Given the description of an element on the screen output the (x, y) to click on. 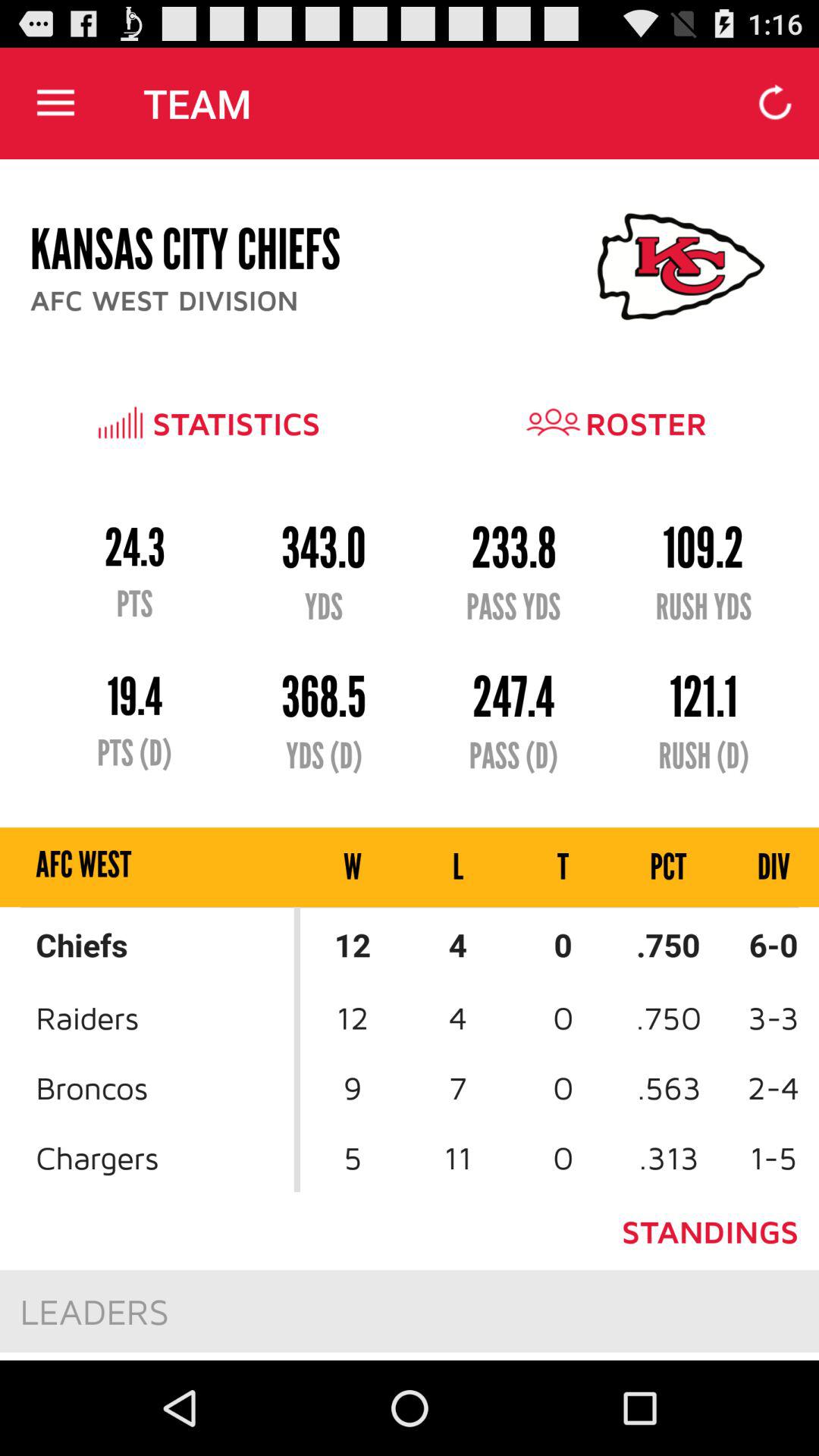
press item above 12 icon (457, 867)
